Given the description of an element on the screen output the (x, y) to click on. 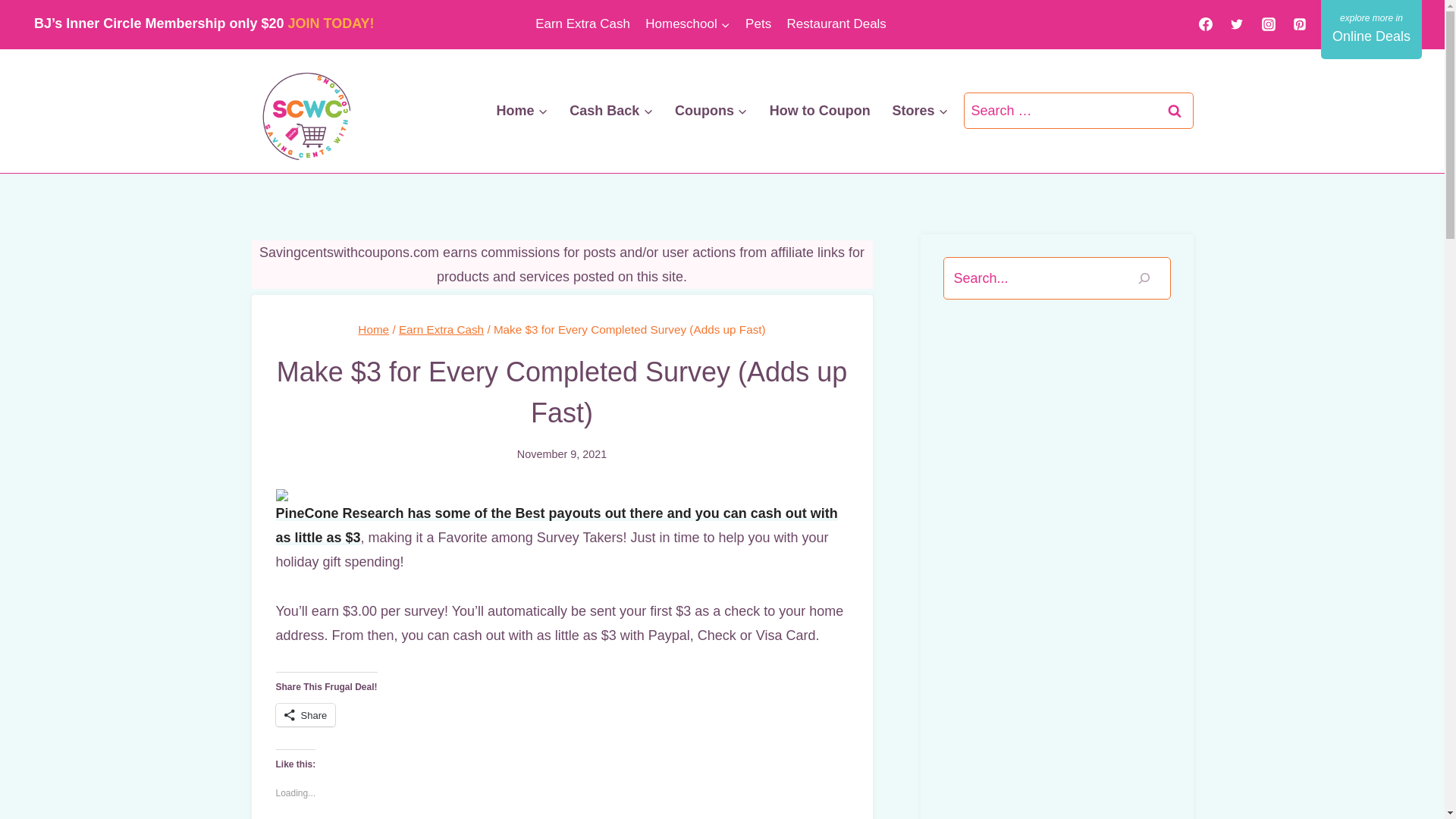
Homeschool (687, 24)
Search (1174, 110)
Coupons (710, 110)
Search (1174, 110)
Online Deals (1371, 29)
Cash Back (611, 110)
JOIN TODAY! (330, 23)
Restaurant Deals (835, 24)
Pets (758, 24)
How to Coupon (819, 110)
Stores (919, 110)
Home (521, 110)
Earn Extra Cash (582, 24)
